Given the description of an element on the screen output the (x, y) to click on. 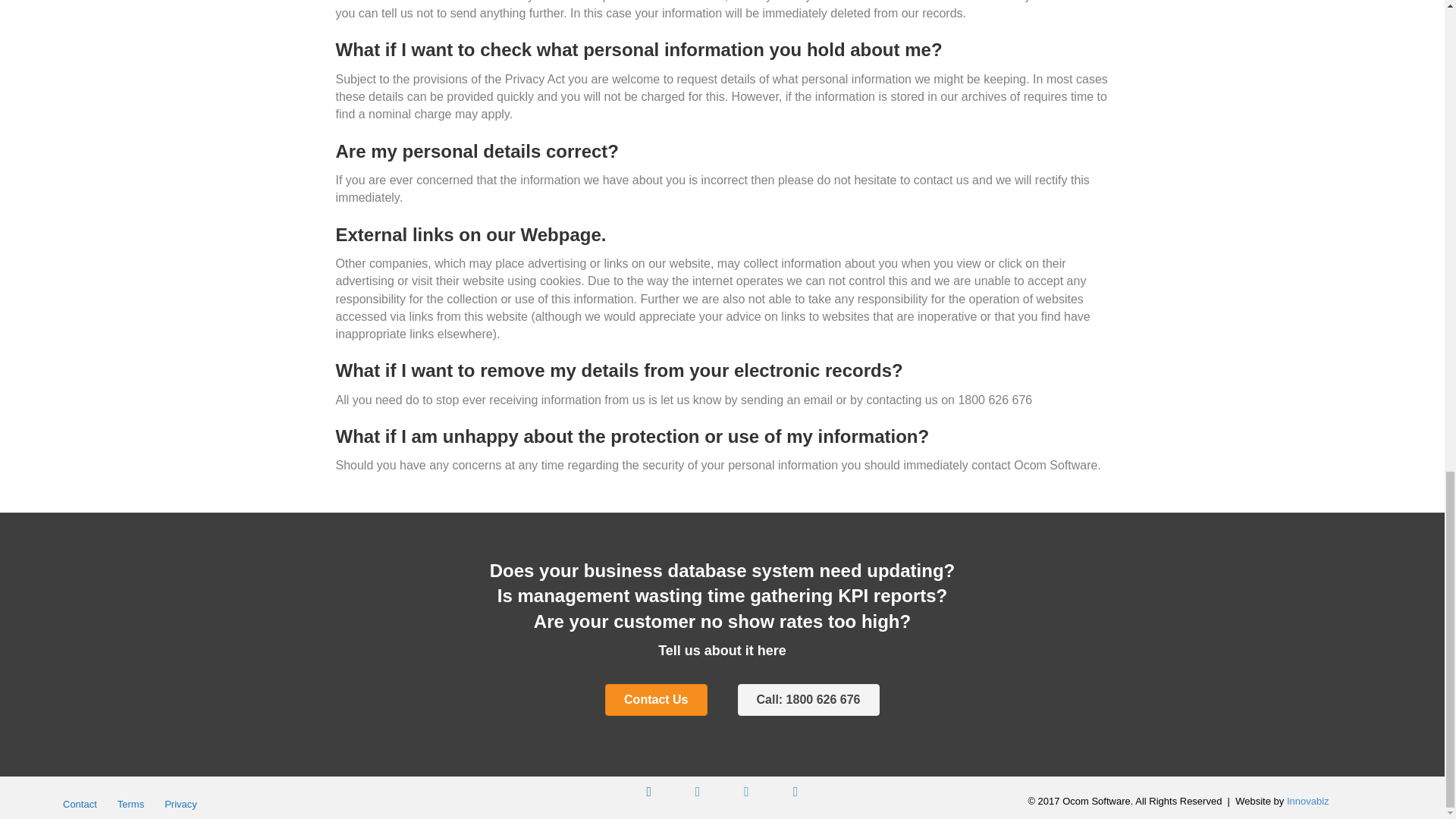
Email (795, 791)
Call: 1800 626 676 (807, 699)
Innovabiz (1308, 800)
Twitter (697, 791)
LinkedIn (746, 791)
Facebook (648, 791)
Contact Us (655, 699)
